Given the description of an element on the screen output the (x, y) to click on. 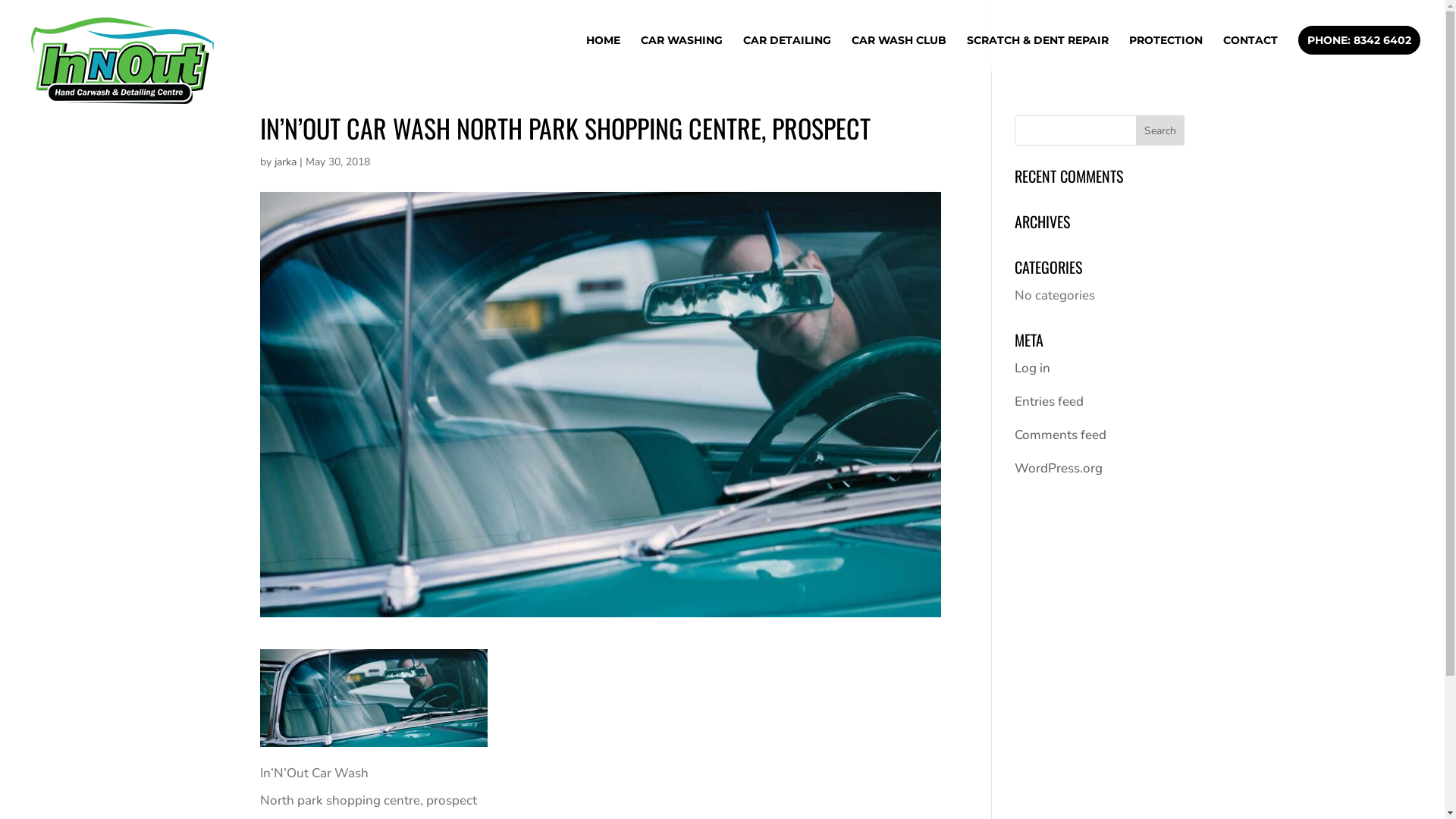
CAR WASH CLUB Element type: text (898, 52)
PROTECTION Element type: text (1165, 52)
Log in Element type: text (1032, 367)
HOME Element type: text (603, 52)
Entries feed Element type: text (1048, 401)
jarka Element type: text (285, 161)
PHONE: 8342 6402 Element type: text (1359, 39)
SCRATCH & DENT REPAIR Element type: text (1037, 52)
WordPress.org Element type: text (1058, 467)
Comments feed Element type: text (1060, 434)
CAR DETAILING Element type: text (787, 52)
CAR WASHING Element type: text (681, 52)
CONTACT Element type: text (1250, 52)
Search Element type: text (1159, 130)
